Given the description of an element on the screen output the (x, y) to click on. 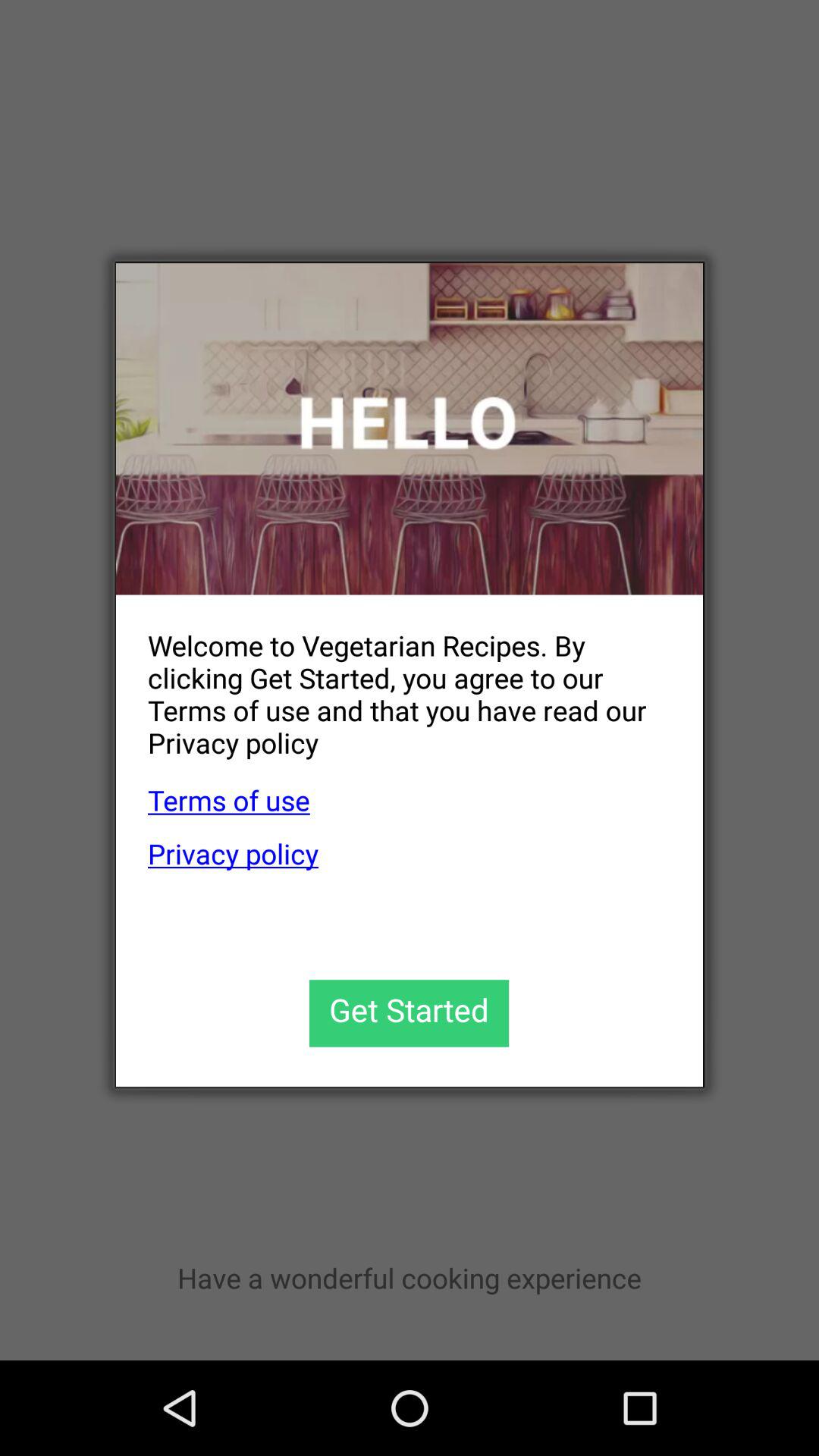
progress to next area (409, 1013)
